Given the description of an element on the screen output the (x, y) to click on. 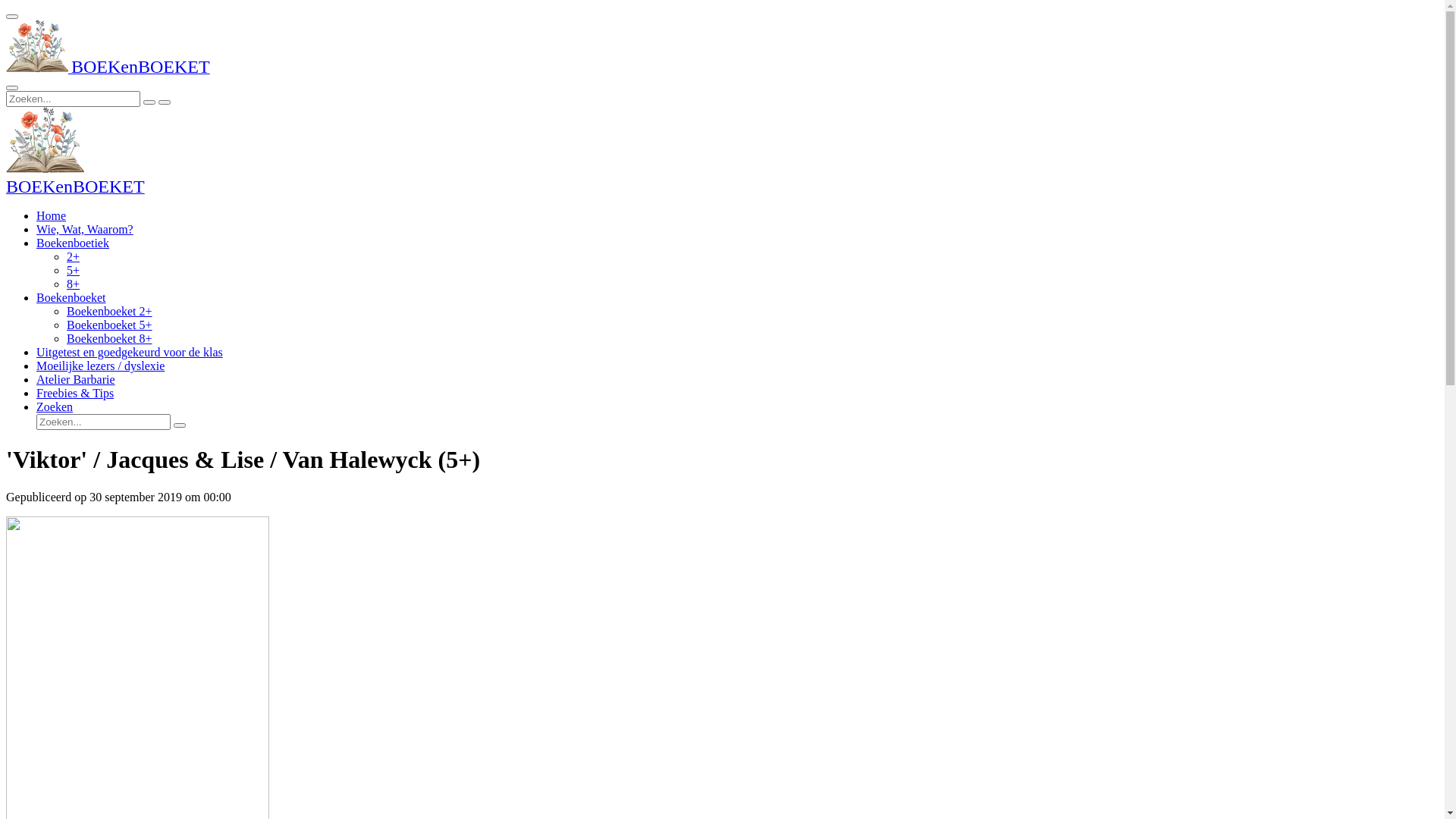
Boekenboeket 5+ Element type: text (109, 324)
8+ Element type: text (72, 283)
Boekenboetiek Element type: text (72, 242)
Freebies & Tips Element type: text (74, 392)
BOEKenBOEKET Element type: hover (45, 139)
BOEKenBOEKET Element type: text (75, 188)
Atelier Barbarie Element type: text (75, 379)
Home Element type: text (50, 215)
Boekenboeket 8+ Element type: text (109, 338)
Uitgetest en goedgekeurd voor de klas Element type: text (129, 351)
2+ Element type: text (72, 256)
BOEKenBOEKET Element type: hover (37, 45)
5+ Element type: text (72, 269)
Boekenboeket Element type: text (71, 297)
BOEKenBOEKET Element type: text (108, 68)
Moeilijke lezers / dyslexie Element type: text (100, 365)
Wie, Wat, Waarom? Element type: text (84, 228)
Zoeken Element type: text (54, 406)
Boekenboeket 2+ Element type: text (109, 310)
